Given the description of an element on the screen output the (x, y) to click on. 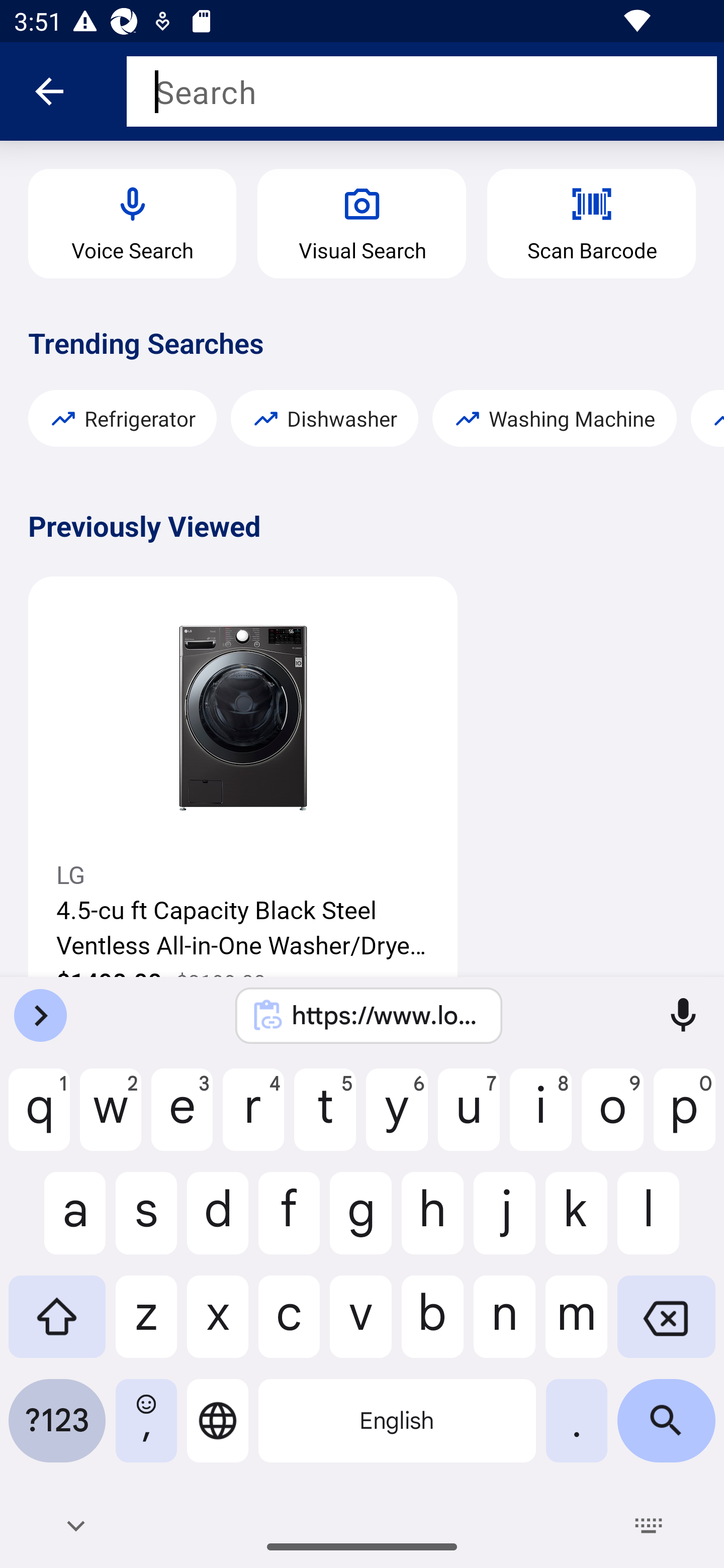
Return (49, 90)
Voice Search (132, 224)
Visual Search (361, 224)
Scan Barcode (591, 224)
trending icon Refrigerator (122, 418)
trending icon Dishwasher (324, 418)
trending icon Washing Machine (554, 418)
